Given the description of an element on the screen output the (x, y) to click on. 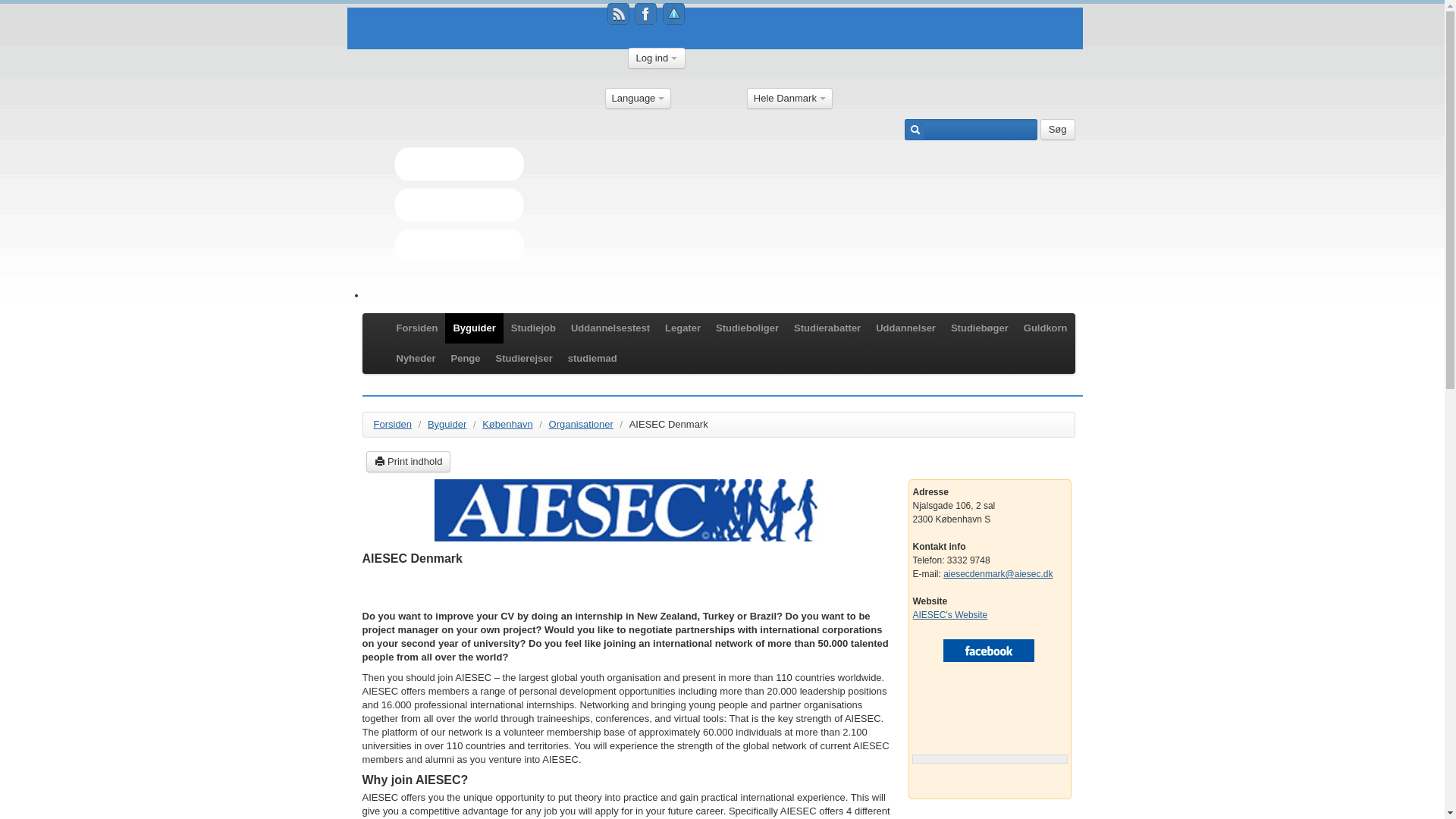
Hele Danmark (789, 97)
Advertisement (980, 709)
Send en mail til AIESEC (997, 573)
Advertisement (627, 588)
Log ind (656, 57)
RSS Feed (617, 14)
Language (638, 97)
